Given the description of an element on the screen output the (x, y) to click on. 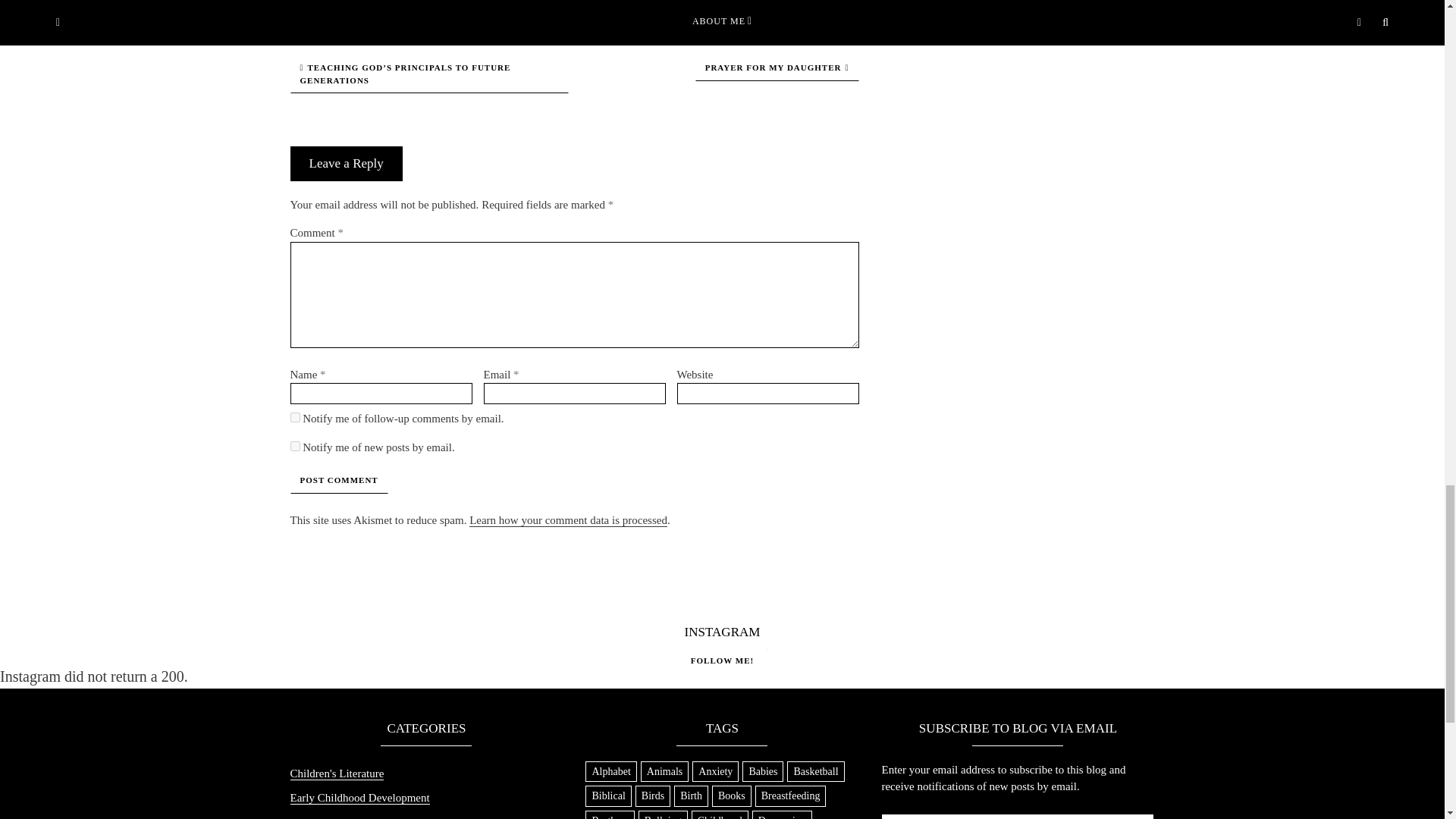
Post Comment (338, 479)
subscribe (294, 446)
Learn how your comment data is processed (567, 520)
View all posts by Arlene Abundis (464, 2)
ARLENE ABUNDIS (464, 2)
subscribe (294, 417)
LEAVE A COMMENT (687, 2)
PRAYER FOR MY DAUGHTER (777, 67)
CHILDREN'S LITERATURE (575, 2)
Post Comment (338, 479)
